Given the description of an element on the screen output the (x, y) to click on. 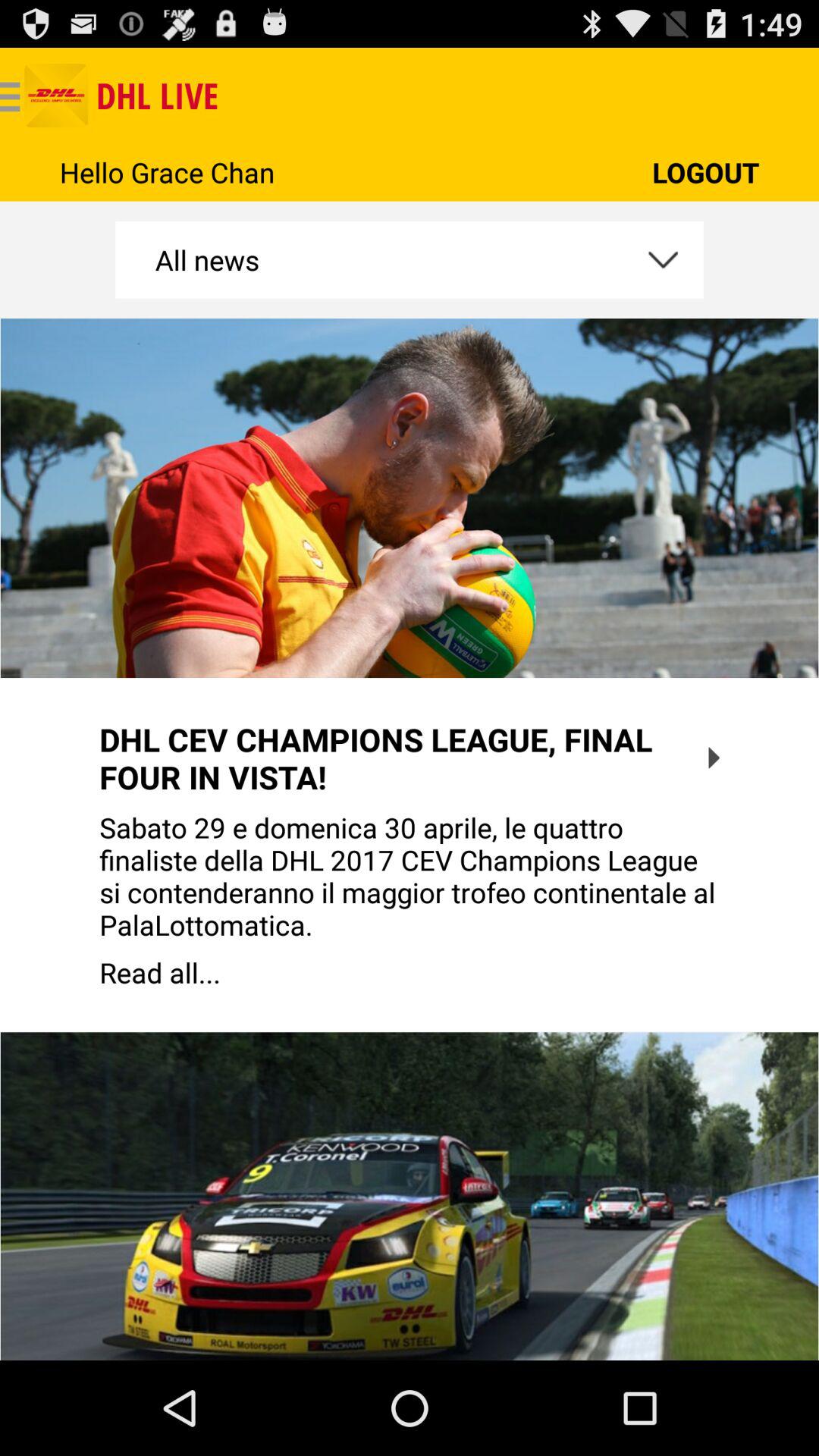
press the item below the sabato 29 e (409, 972)
